Given the description of an element on the screen output the (x, y) to click on. 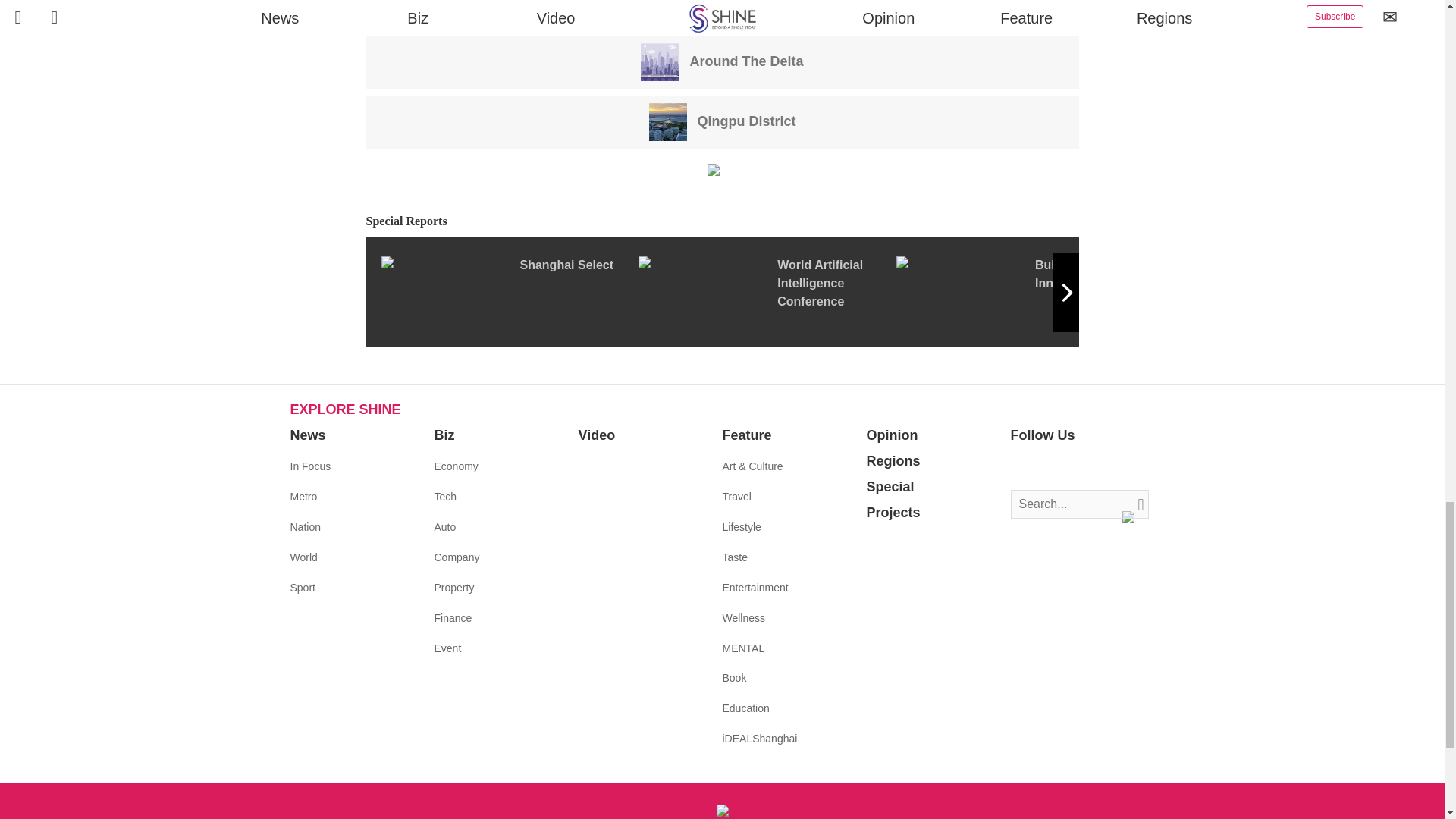
Follow us on Wechat (1112, 466)
Follow us on Twitter (1044, 466)
Around The Delta (721, 60)
World Artificial Intelligence Conference (767, 291)
Building an Innovation Hub (1024, 291)
Shanghai Select (508, 291)
Follow us on Facebook (1021, 466)
Special Reports (721, 221)
Follow us on Youtube (1090, 466)
Qingpu District (722, 120)
